Given the description of an element on the screen output the (x, y) to click on. 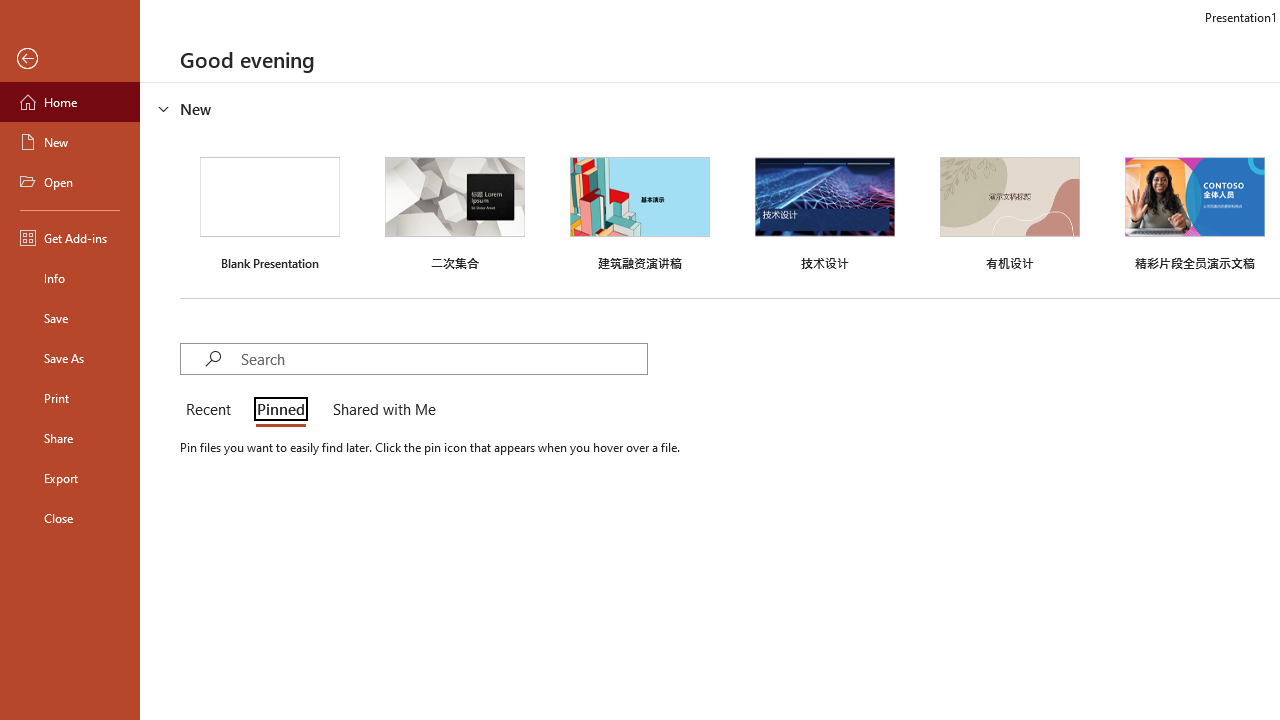
Hide or show region (164, 108)
Export (69, 477)
Recent (212, 410)
Get Add-ins (69, 237)
